Given the description of an element on the screen output the (x, y) to click on. 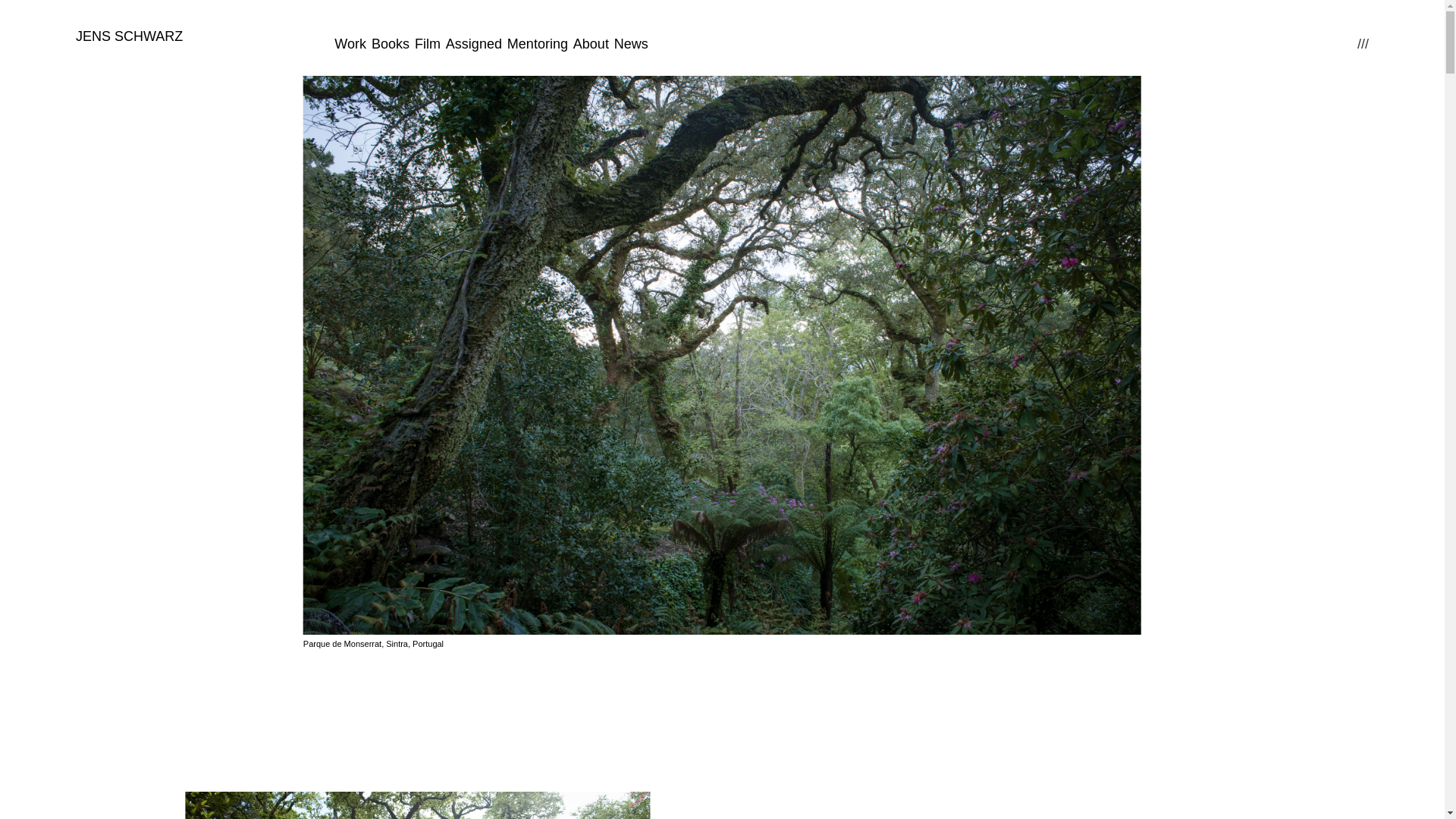
News (630, 43)
Mentoring (536, 43)
Books (390, 43)
Assigned (473, 43)
Film (427, 43)
Work (350, 43)
About (590, 43)
JENS SCHWARZ (129, 36)
